Given the description of an element on the screen output the (x, y) to click on. 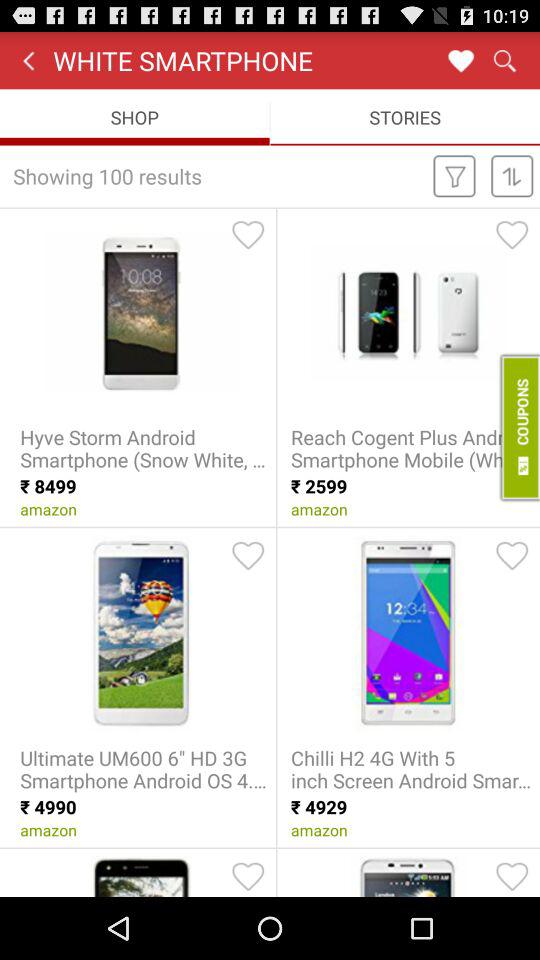
add item to favorites (248, 555)
